Given the description of an element on the screen output the (x, y) to click on. 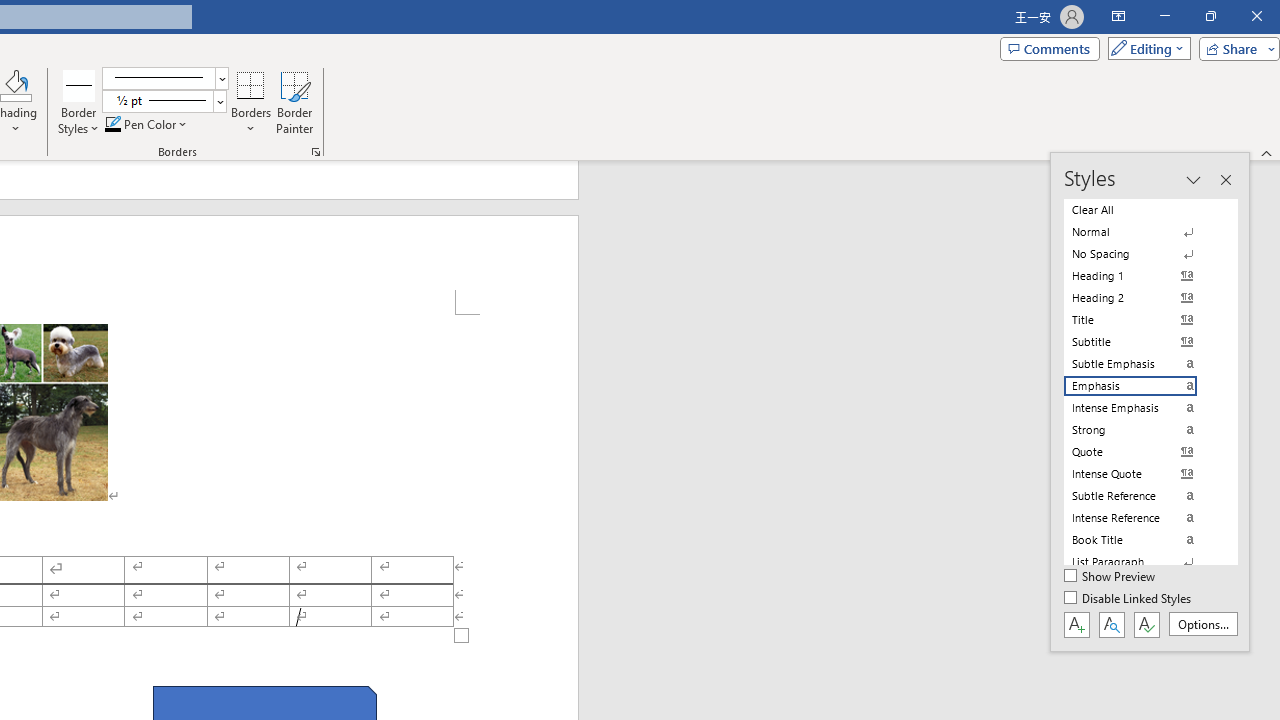
Book Title (1142, 539)
Subtle Reference (1142, 495)
Intense Quote (1142, 473)
Subtitle (1142, 341)
Intense Emphasis (1142, 407)
Show Preview (1110, 577)
Pen Weight (164, 101)
Emphasis (1142, 385)
Options... (1202, 623)
Heading 1 (1142, 275)
Clear All (1142, 209)
